Given the description of an element on the screen output the (x, y) to click on. 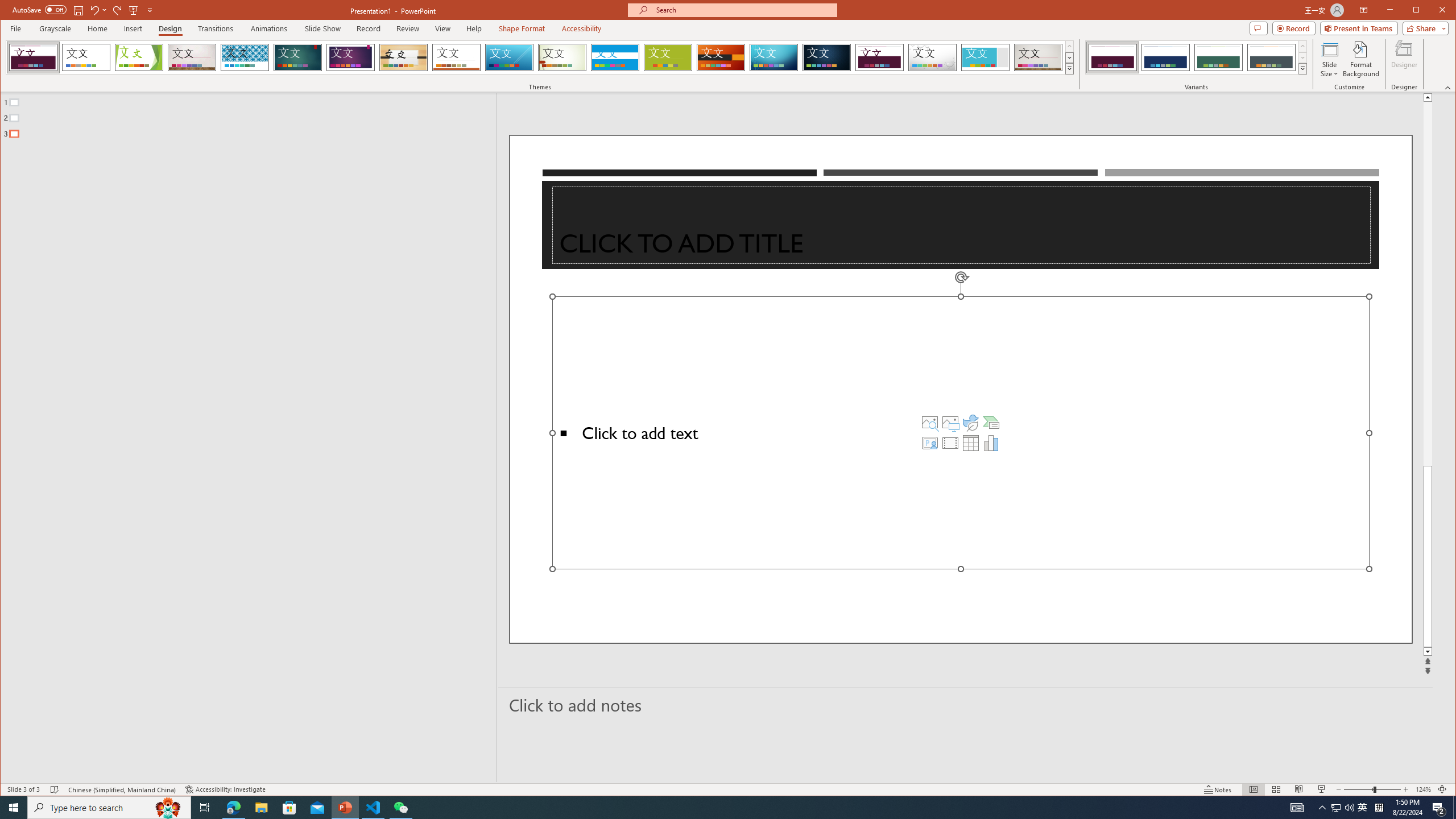
Dividend (879, 57)
Circuit (773, 57)
Basis (668, 57)
Ion (297, 57)
Variants (1302, 68)
Zoom 124% (1422, 789)
Insert an Icon (970, 422)
